Given the description of an element on the screen output the (x, y) to click on. 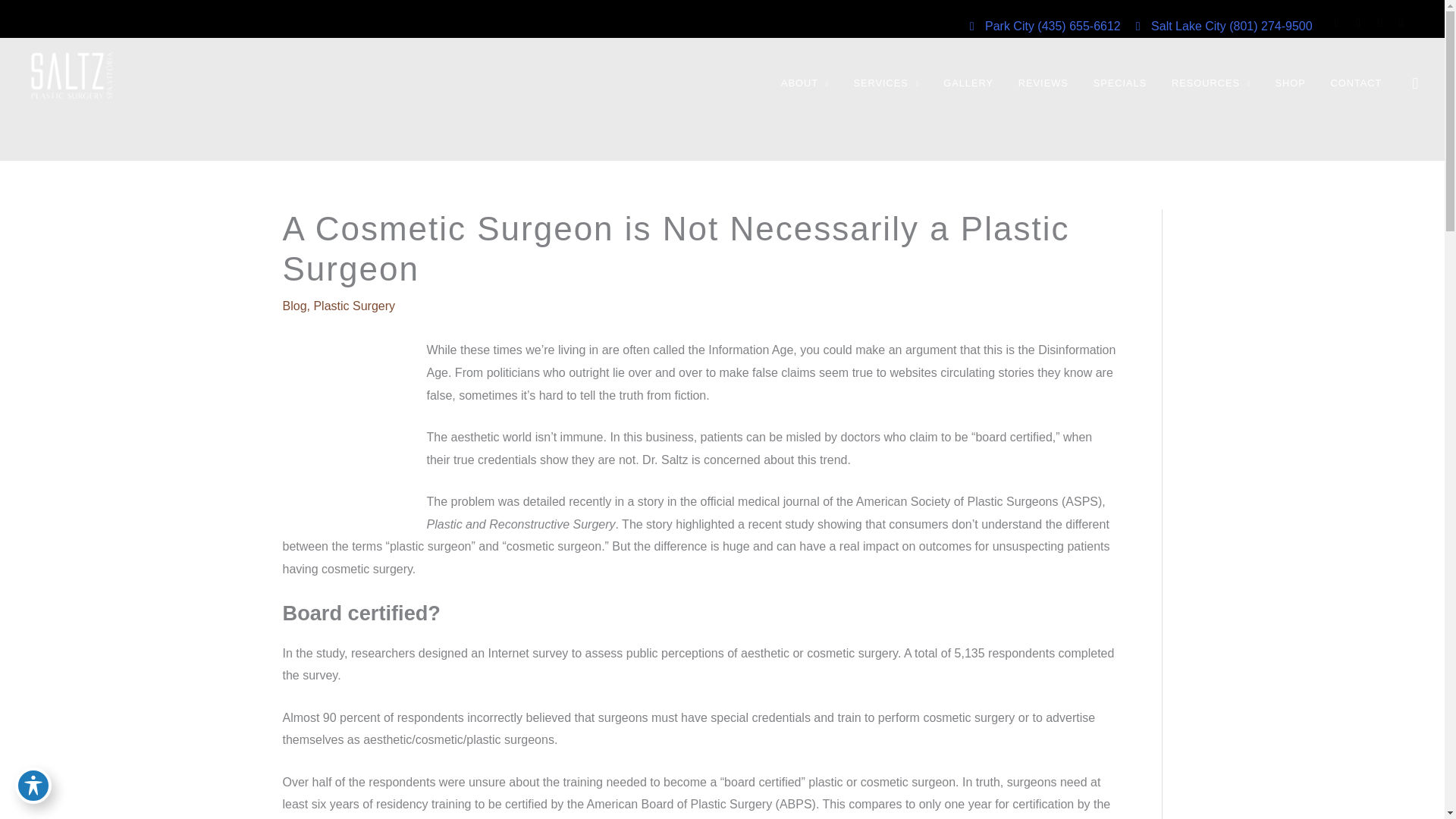
Salt Lake City (1181, 25)
SERVICES (889, 83)
Park City (1003, 25)
ABOUT (807, 83)
